Given the description of an element on the screen output the (x, y) to click on. 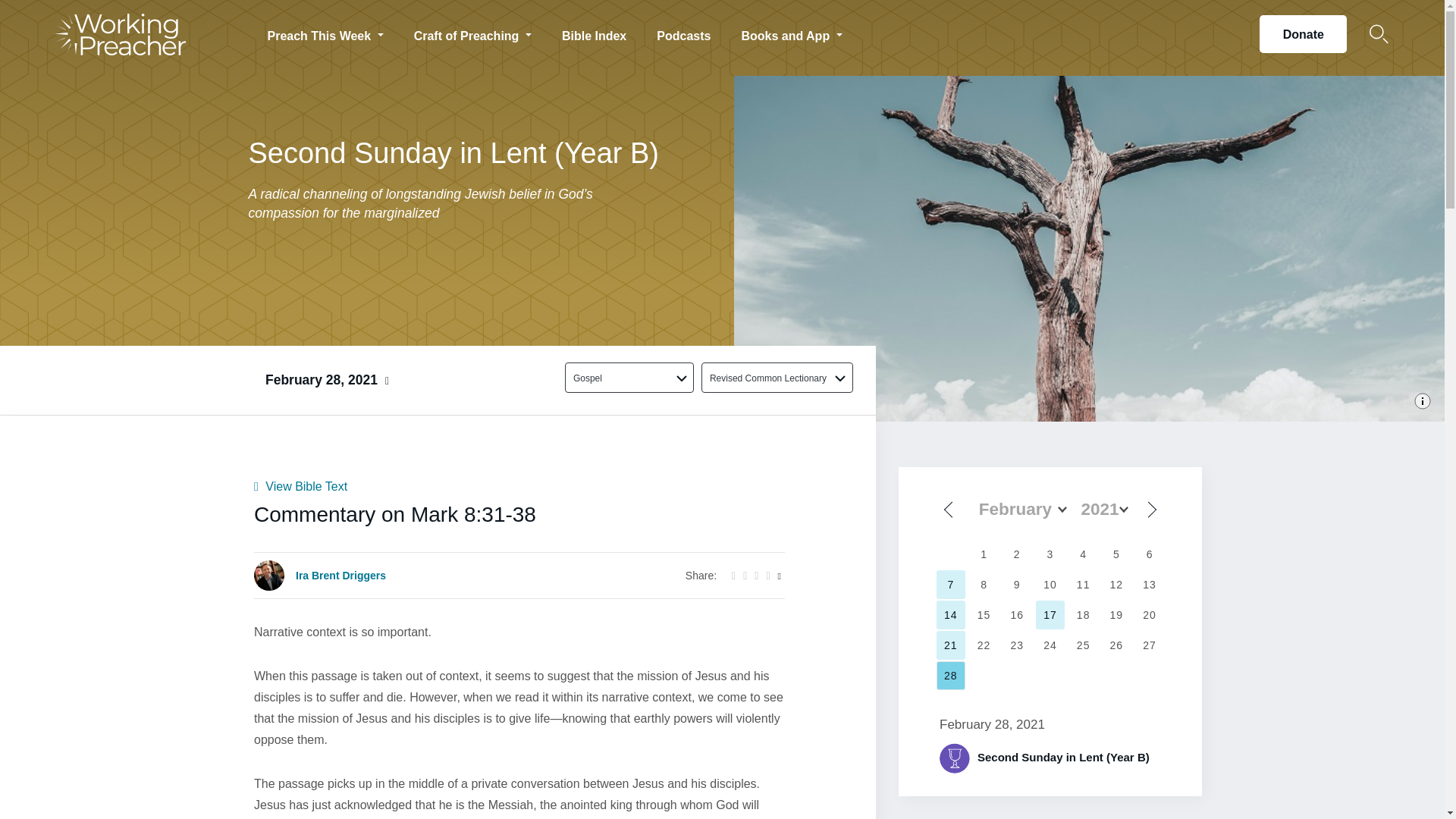
Preach This Week (324, 33)
Donate (1302, 34)
Bible Index (594, 33)
Craft of Preaching (472, 33)
Podcasts (683, 33)
Preach This Week (324, 33)
Books and App (791, 33)
Podcasts (683, 33)
Craft of Preaching (472, 33)
Books and App (791, 33)
Bible Index (594, 33)
